Given the description of an element on the screen output the (x, y) to click on. 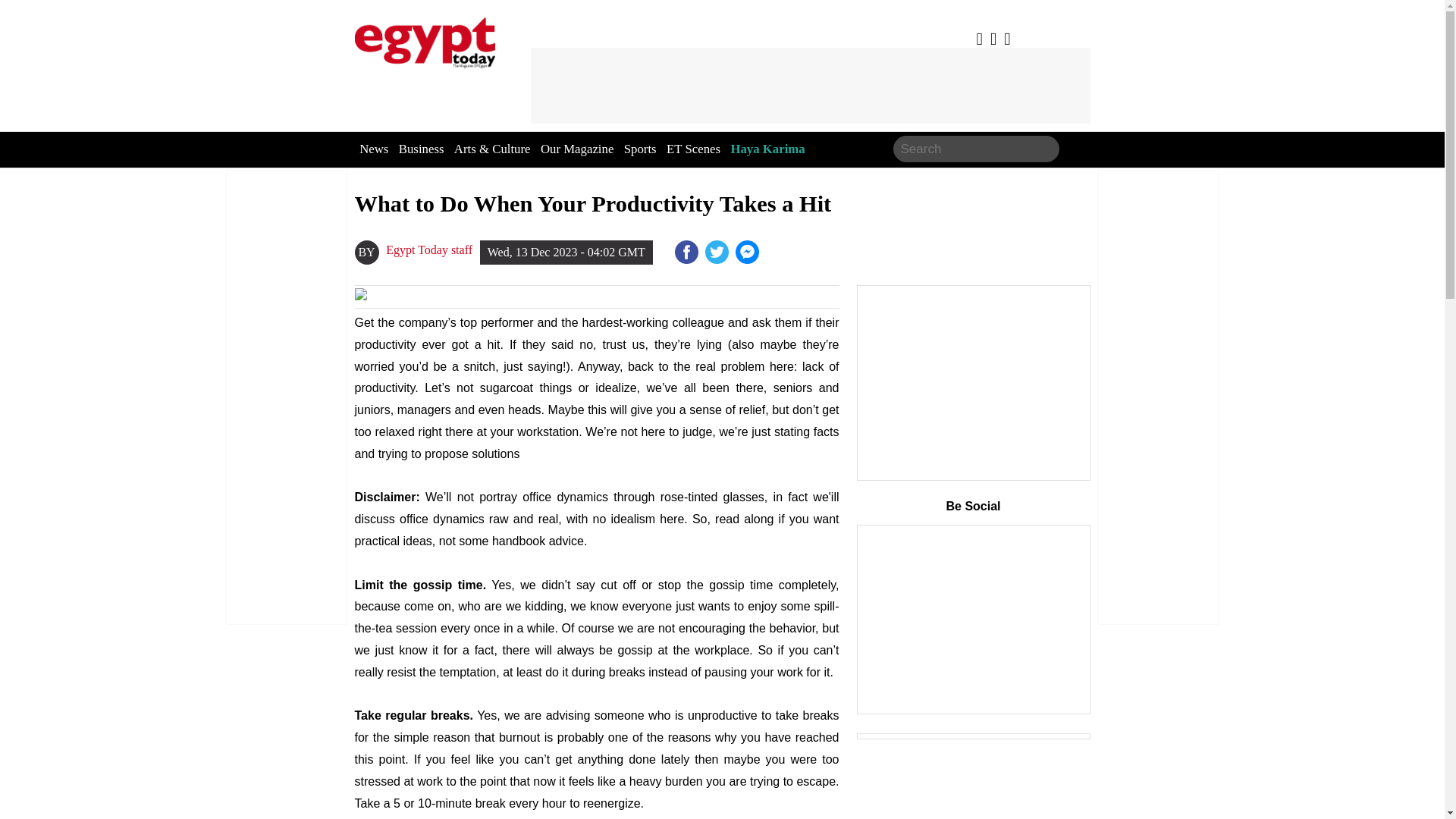
Haya Karima (767, 149)
Business (421, 149)
EgyptToday (425, 39)
Sports (640, 149)
ET Scenes (693, 149)
Sisi heads to Guinea first destination in overseas tour (748, 251)
Our Magazine (576, 149)
Egypt Today staff (428, 250)
